Given the description of an element on the screen output the (x, y) to click on. 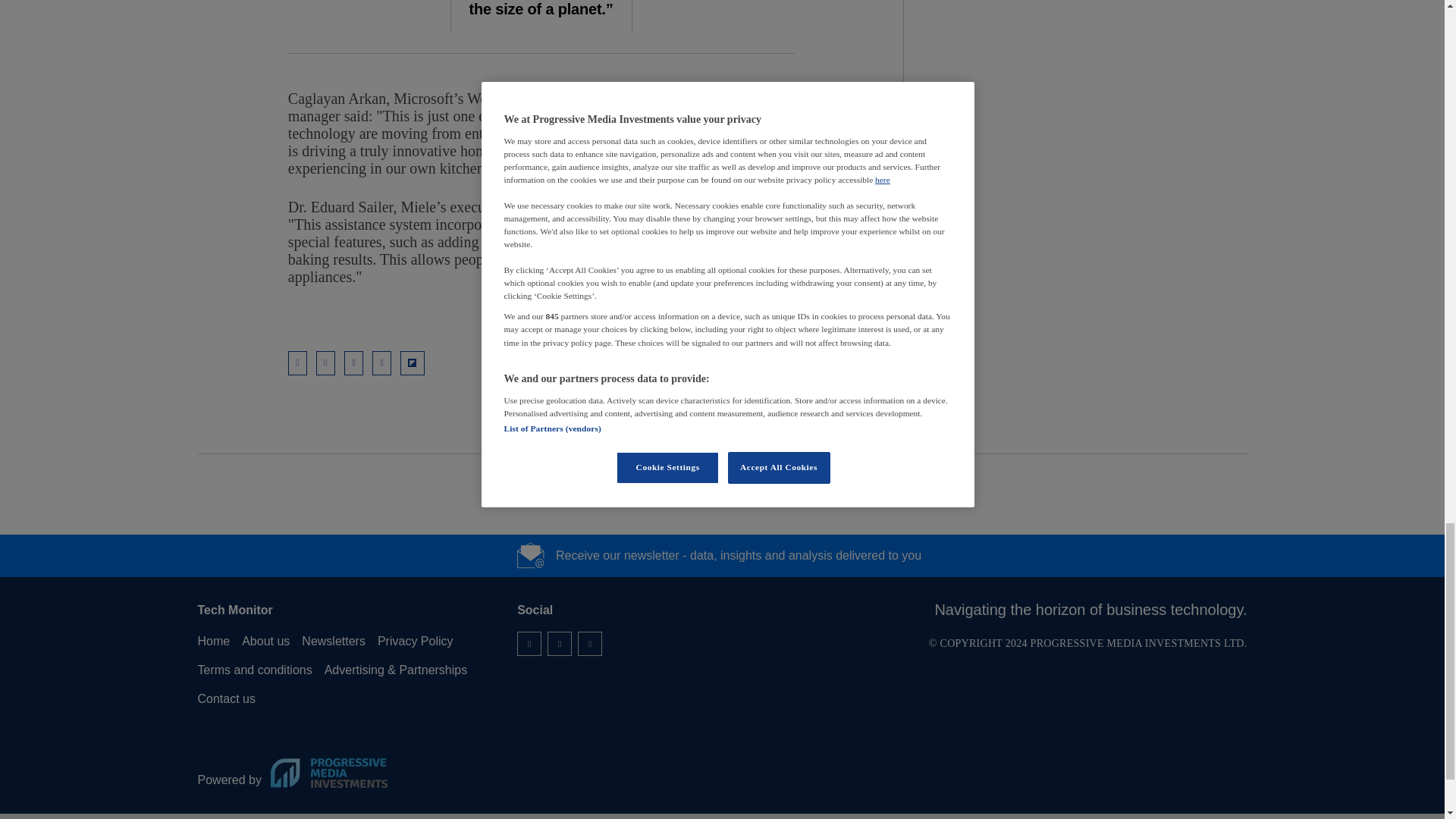
Share on Flipboard (412, 363)
